Given the description of an element on the screen output the (x, y) to click on. 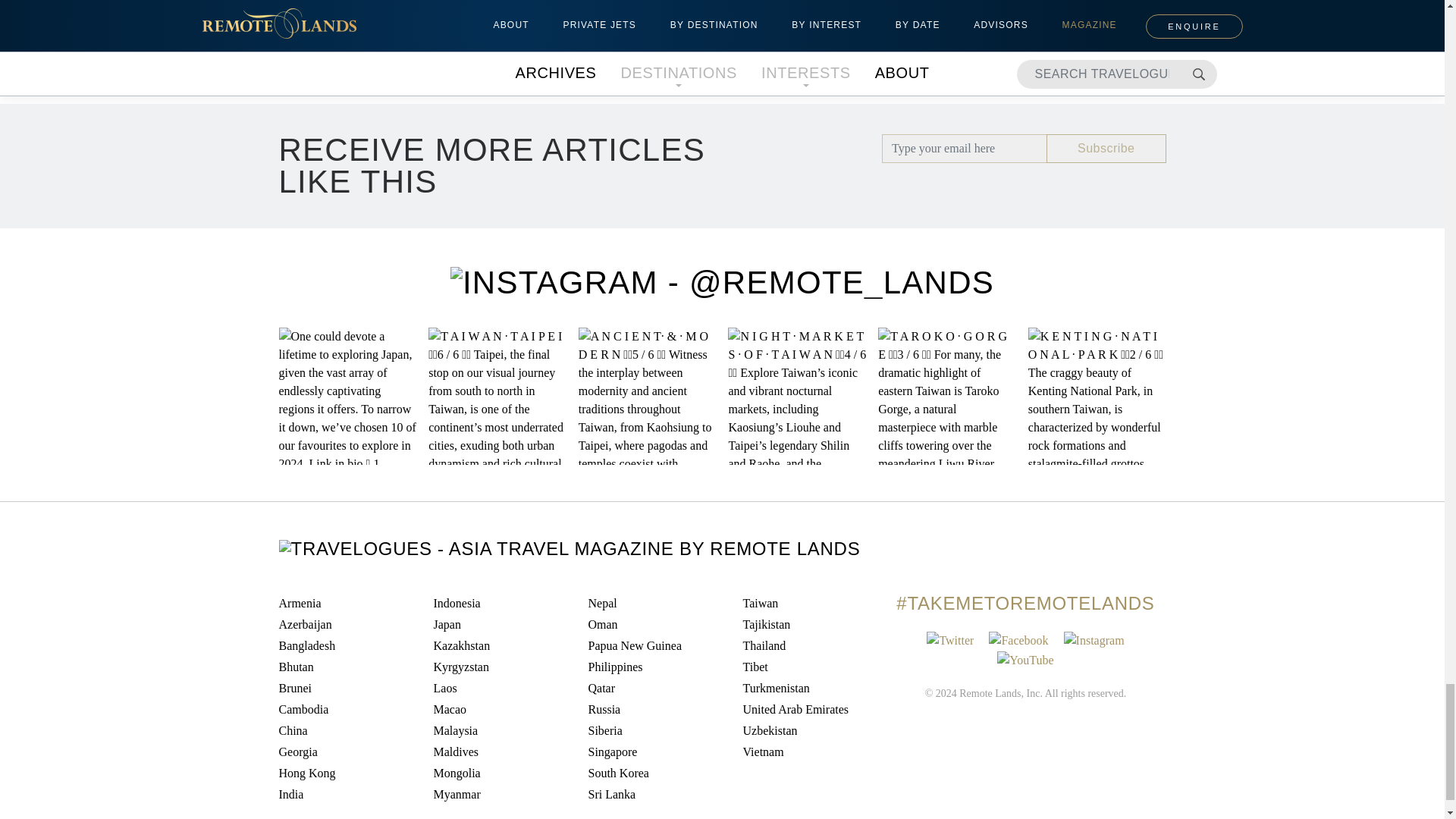
Subscribe (1106, 148)
